Given the description of an element on the screen output the (x, y) to click on. 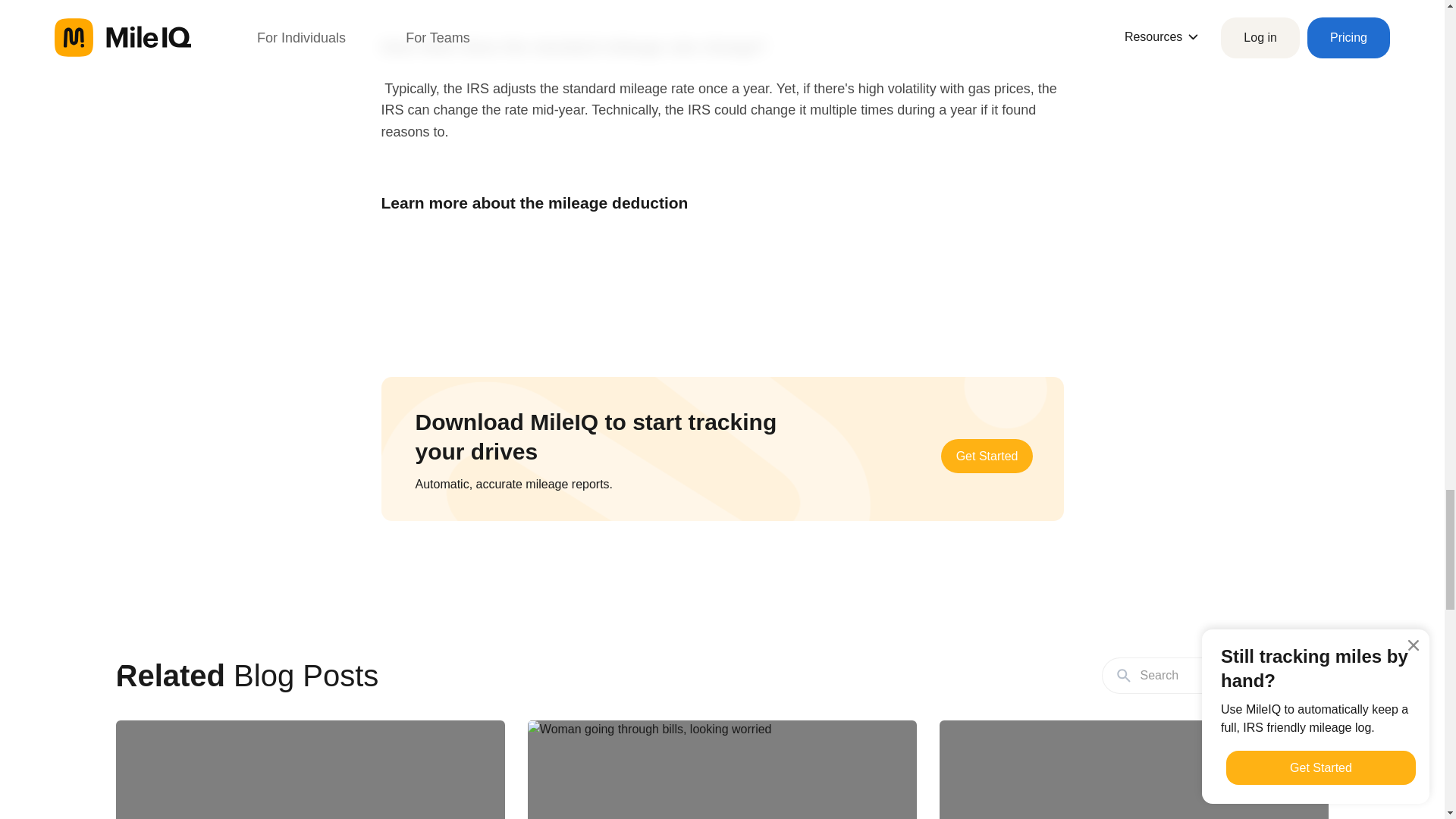
Get Started (986, 455)
